Given the description of an element on the screen output the (x, y) to click on. 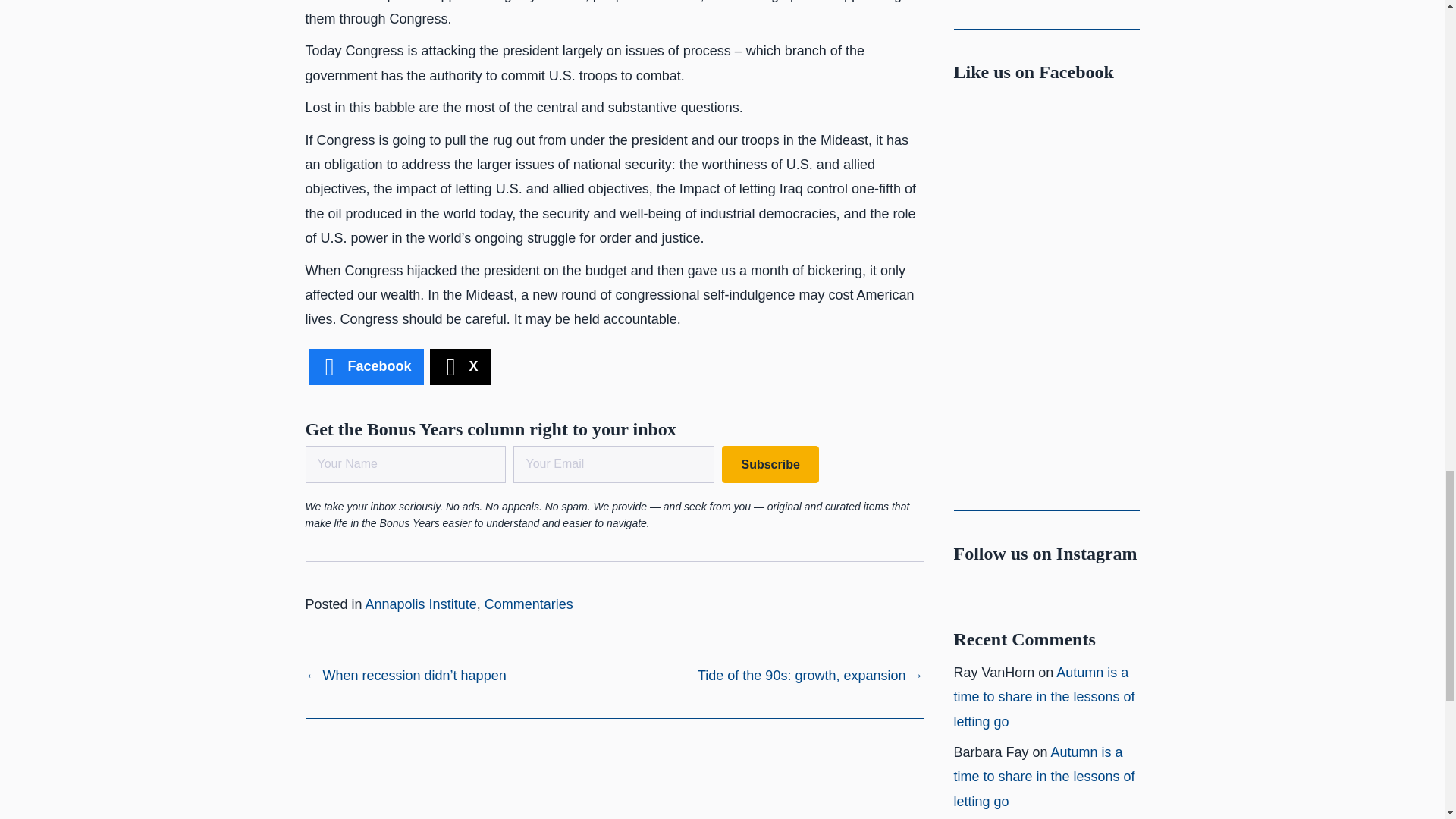
Share this article on Facebook (365, 366)
Click Here (770, 464)
Facebook (365, 366)
Share this article on X (459, 366)
X (459, 366)
